Given the description of an element on the screen output the (x, y) to click on. 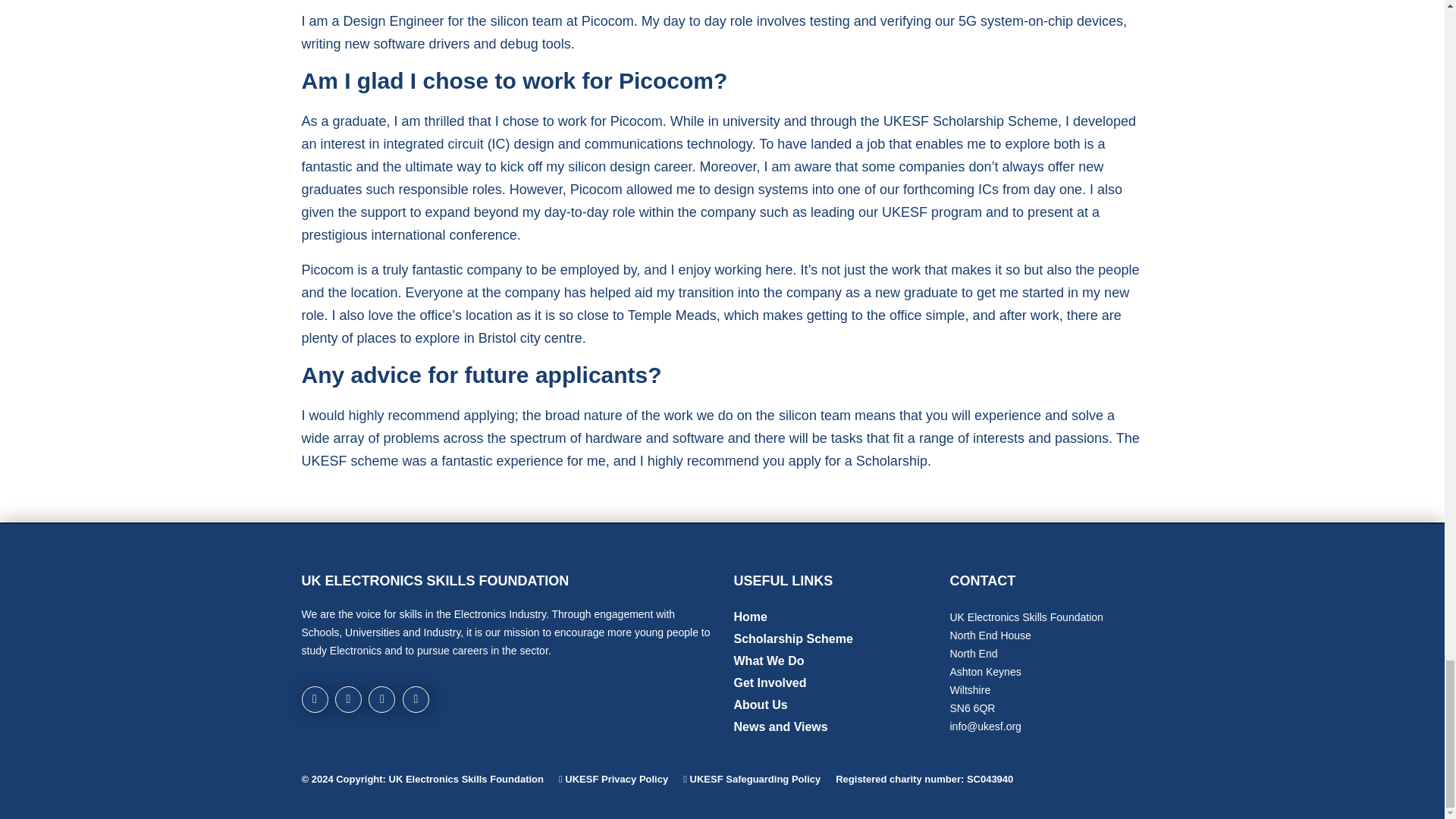
What We Do (769, 660)
Get Involved (769, 682)
UKESF Safeguarding Policy (755, 778)
Scholarship Scheme (793, 638)
About Us (760, 704)
News and Views (780, 726)
Home (750, 616)
UKESF Privacy Policy (616, 778)
